Given the description of an element on the screen output the (x, y) to click on. 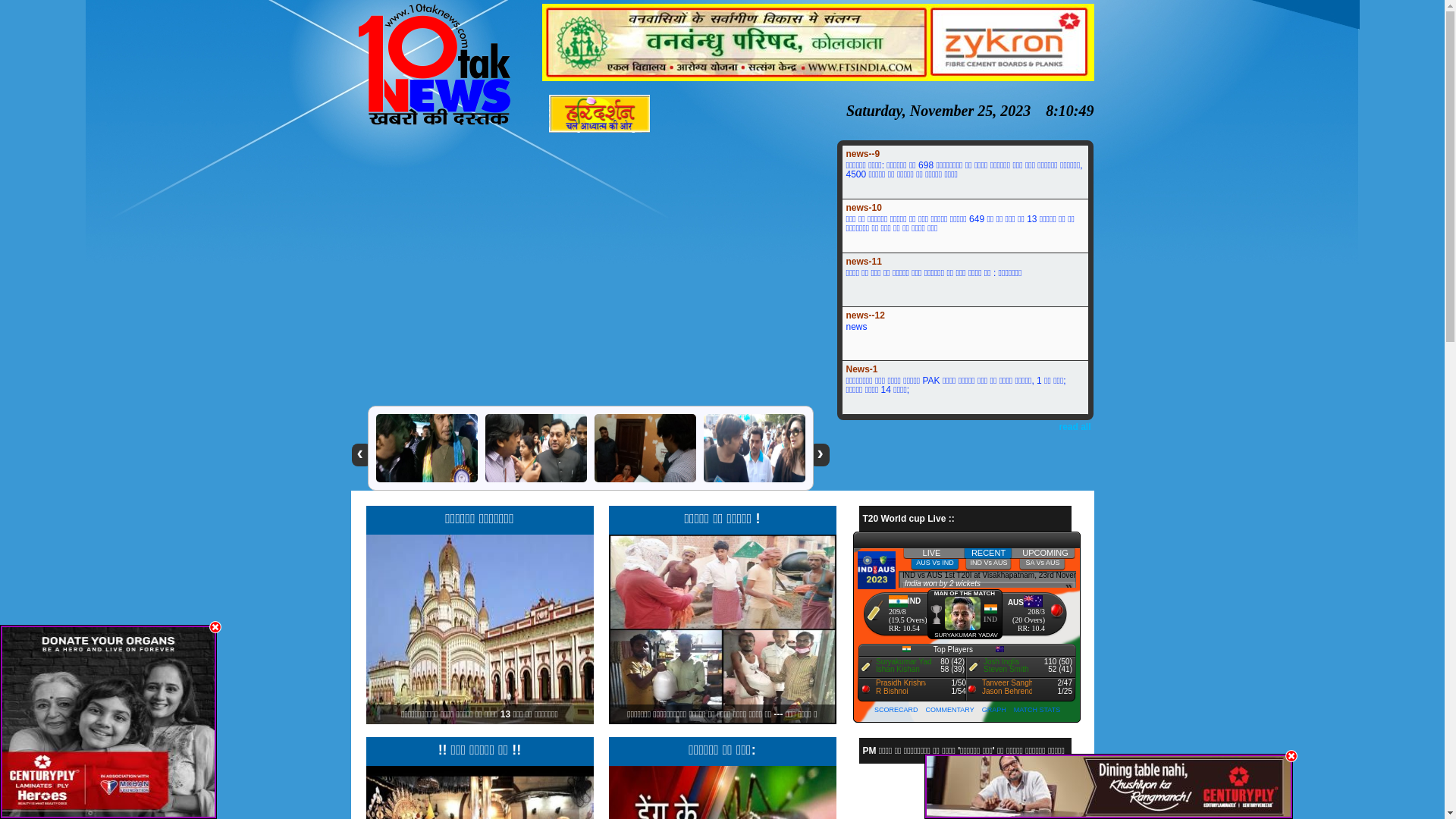
Haridarshan Element type: hover (599, 129)
read all Element type: text (1074, 426)
